Given the description of an element on the screen output the (x, y) to click on. 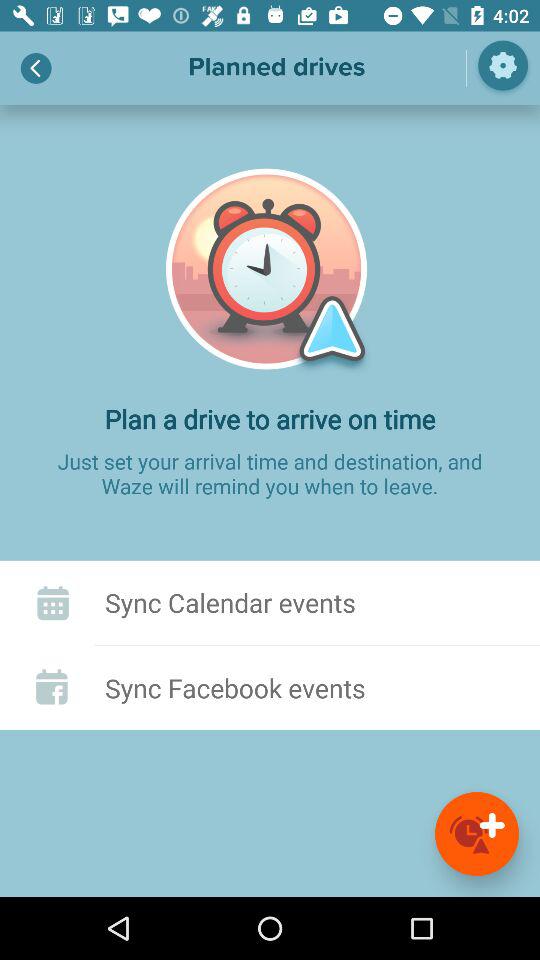
go back (36, 67)
